Given the description of an element on the screen output the (x, y) to click on. 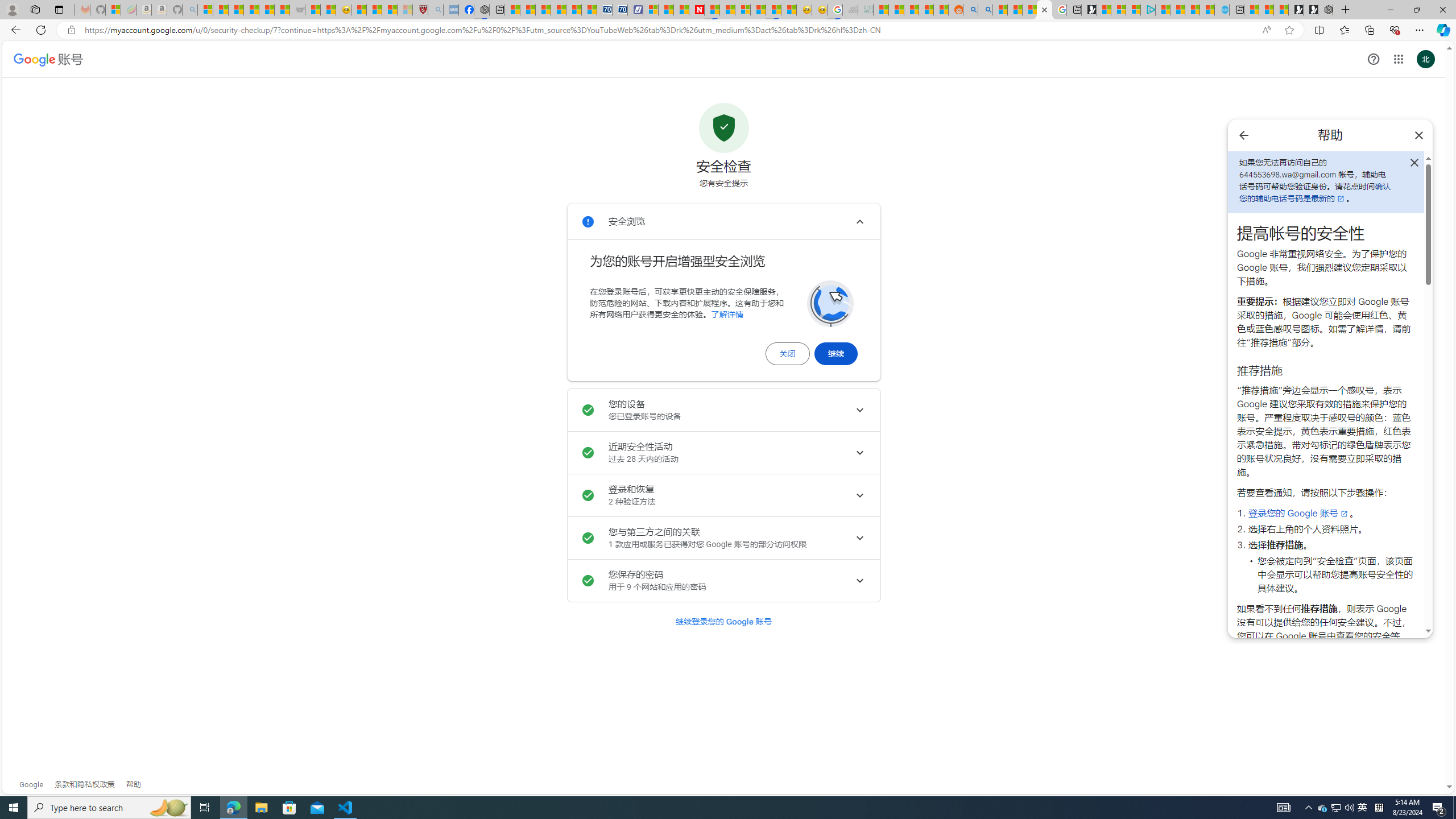
Cheap Hotels - Save70.com (619, 9)
